Given the description of an element on the screen output the (x, y) to click on. 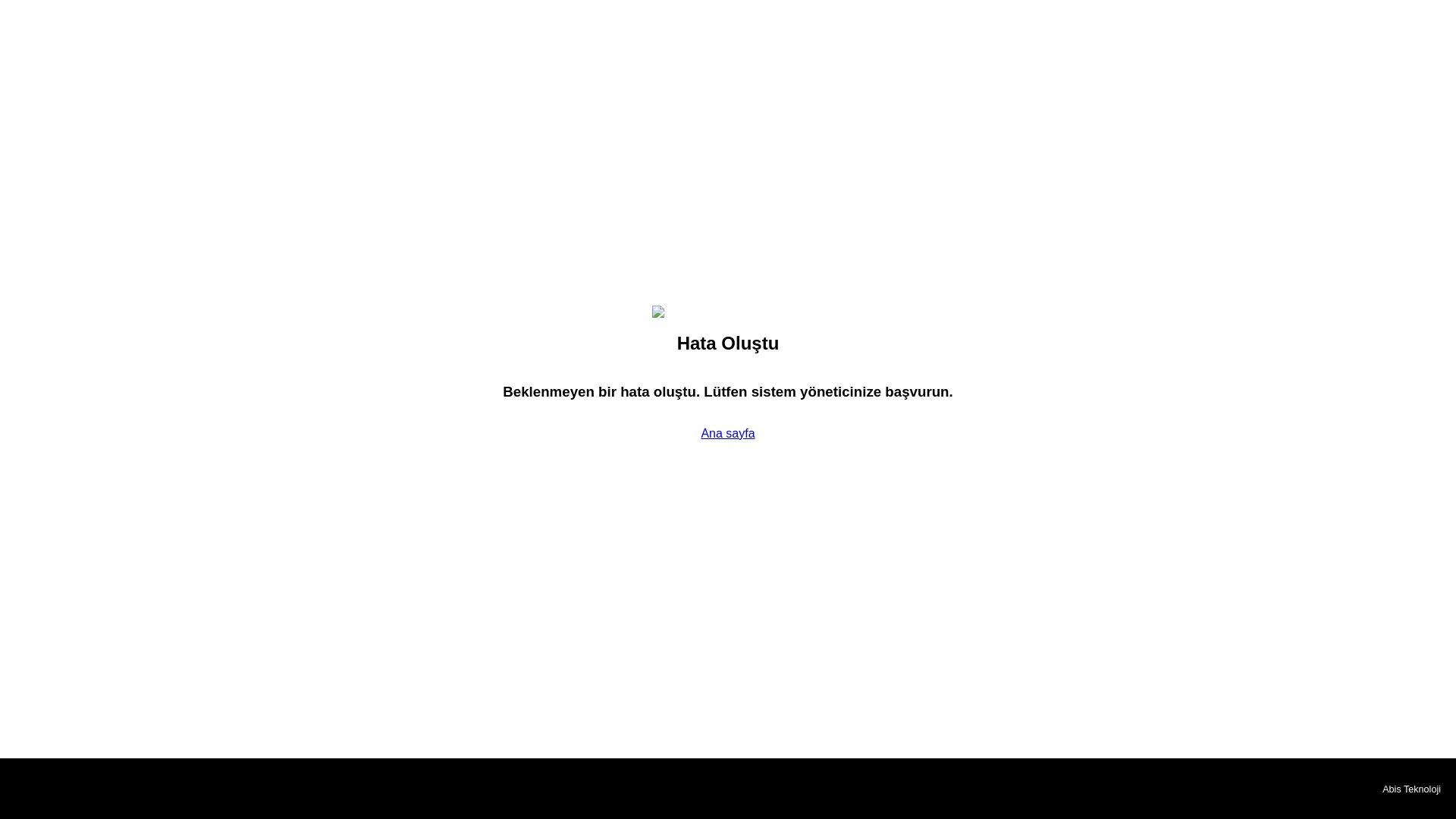
Ana sayfa (727, 432)
Abis Teknoloji (1411, 788)
